Given the description of an element on the screen output the (x, y) to click on. 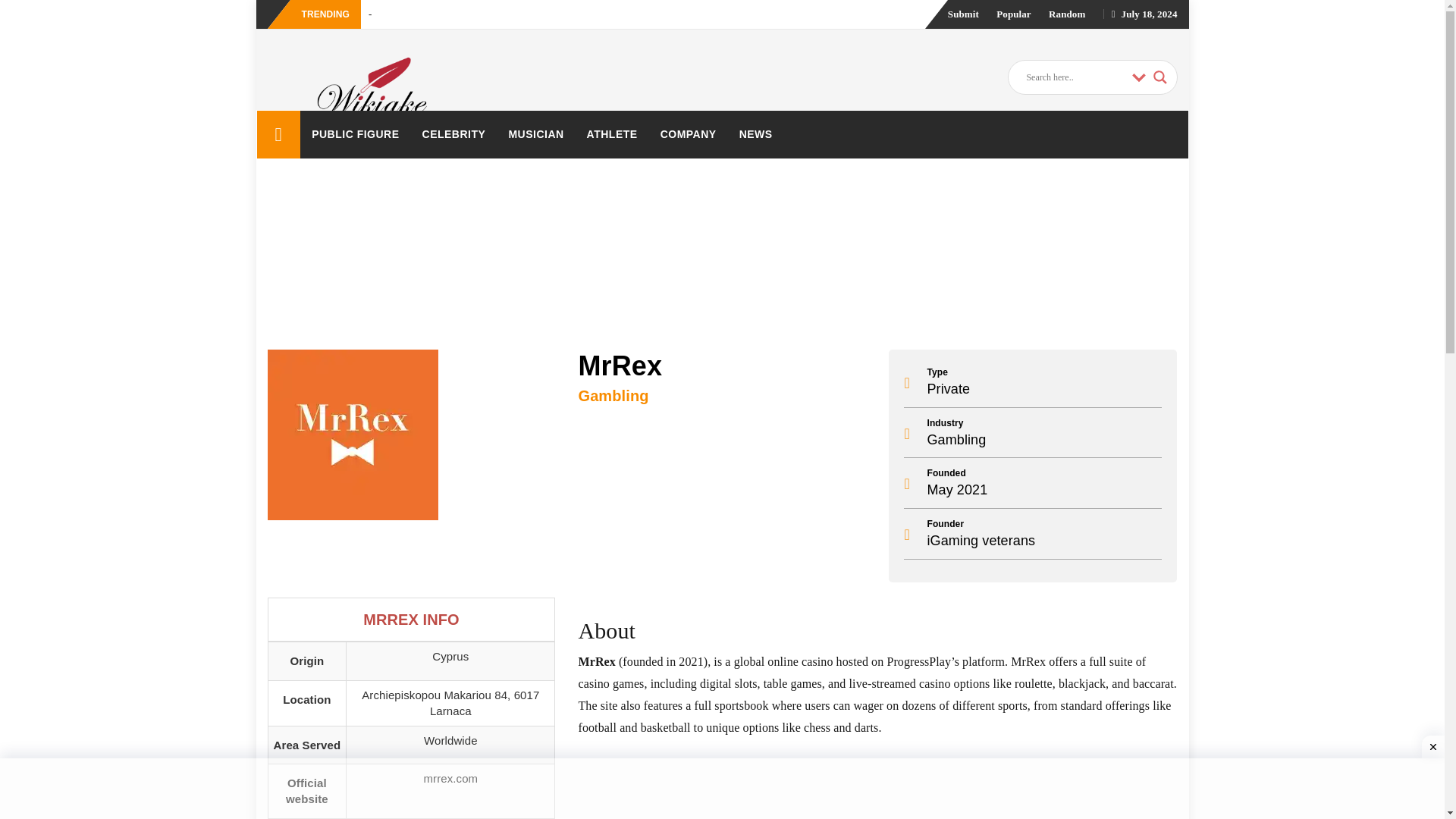
NEWS (756, 134)
Advertisement (721, 790)
Random (1066, 13)
PUBLIC FIGURE (354, 134)
CELEBRITY (453, 134)
Submit (962, 13)
Advertisement (877, 782)
Popular (1012, 13)
Wikiake (277, 134)
MUSICIAN (535, 134)
COMPANY (688, 134)
ATHLETE (612, 134)
